Given the description of an element on the screen output the (x, y) to click on. 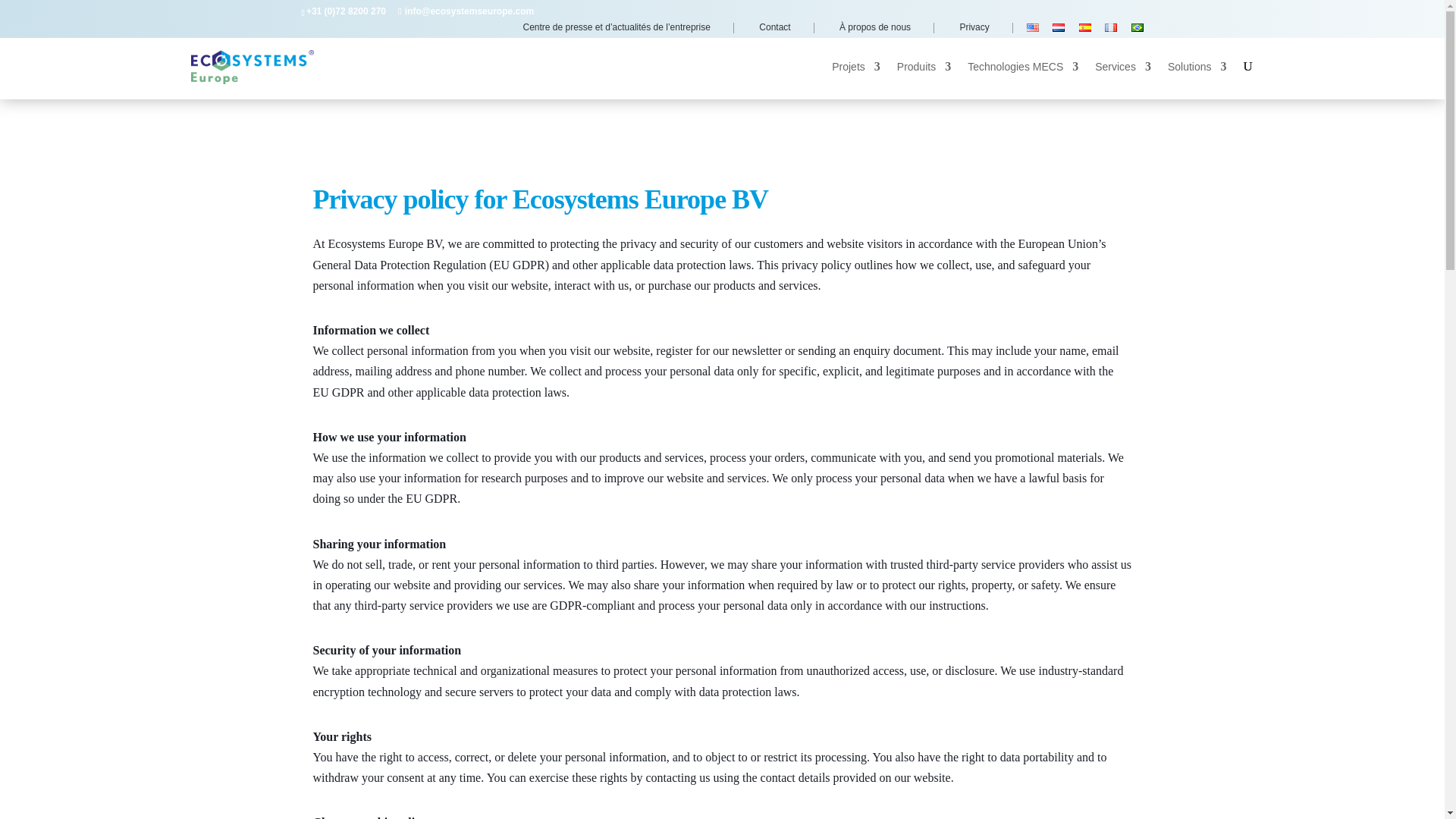
Produits (923, 79)
Technologies MECS (1023, 79)
Contact (780, 27)
Privacy (979, 27)
Solutions (1197, 79)
Services (1122, 79)
Projets (855, 79)
